Given the description of an element on the screen output the (x, y) to click on. 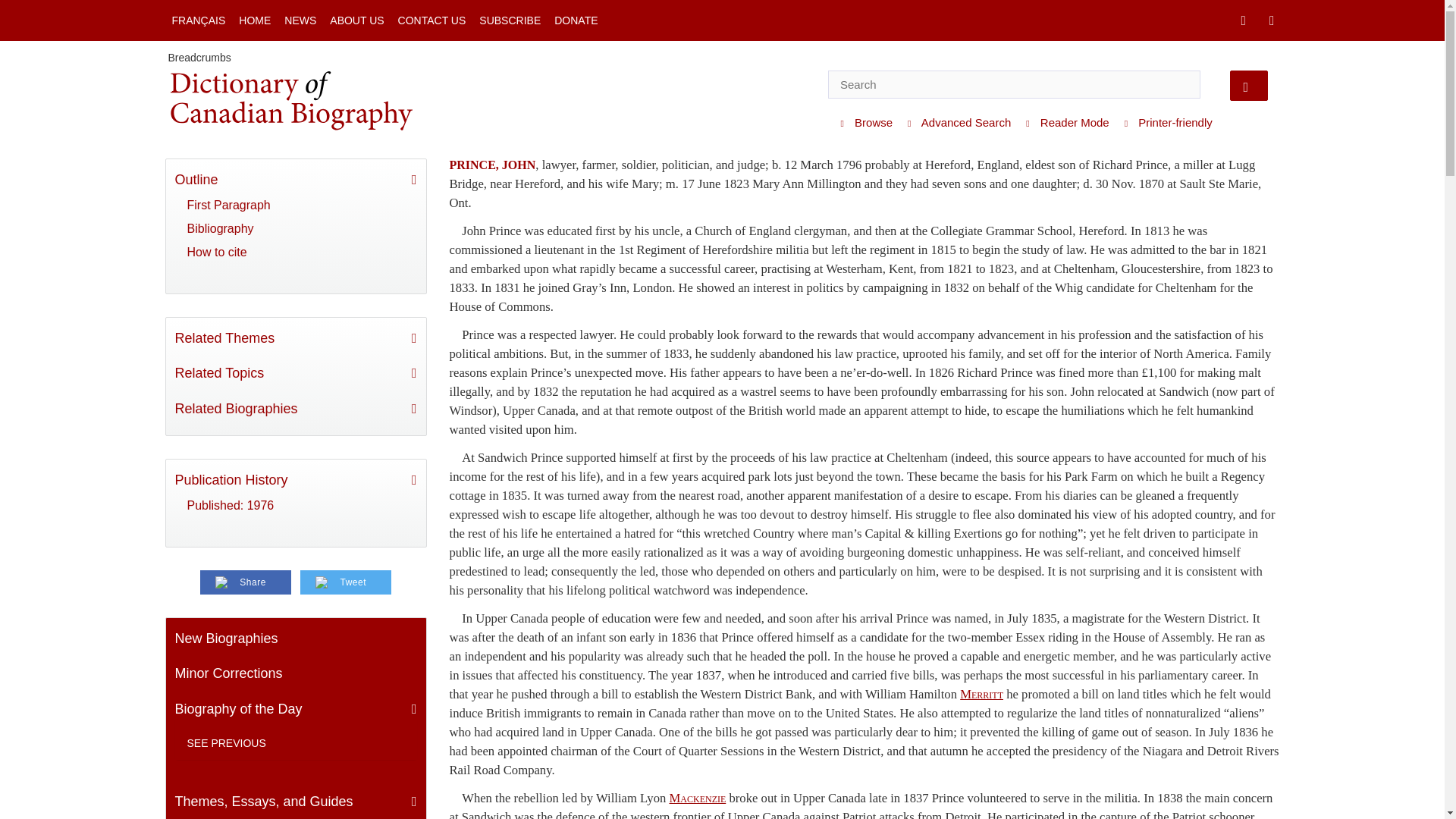
DONATE (575, 20)
Printer-friendly (1164, 123)
Related Themes (295, 338)
 Browse (862, 123)
 Reader Mode (1063, 123)
CONTACT US (432, 20)
ABOUT US (356, 20)
How to cite (295, 252)
Dictionary of Canadian Biography (289, 99)
 Advanced Search (955, 123)
